Given the description of an element on the screen output the (x, y) to click on. 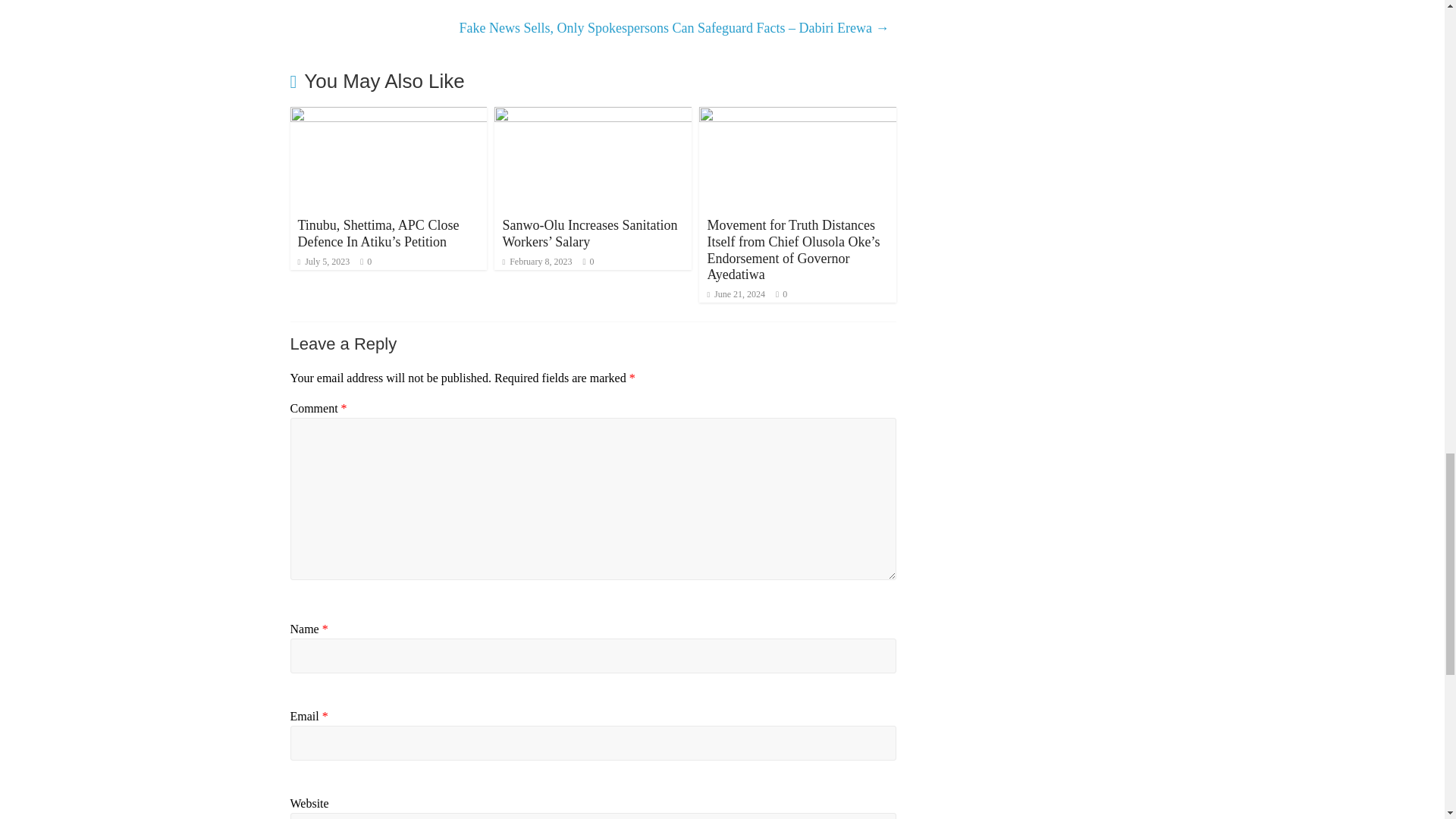
6:18 pm (323, 261)
July 5, 2023 (323, 261)
0 (368, 261)
0 (591, 261)
February 8, 2023 (537, 261)
